Given the description of an element on the screen output the (x, y) to click on. 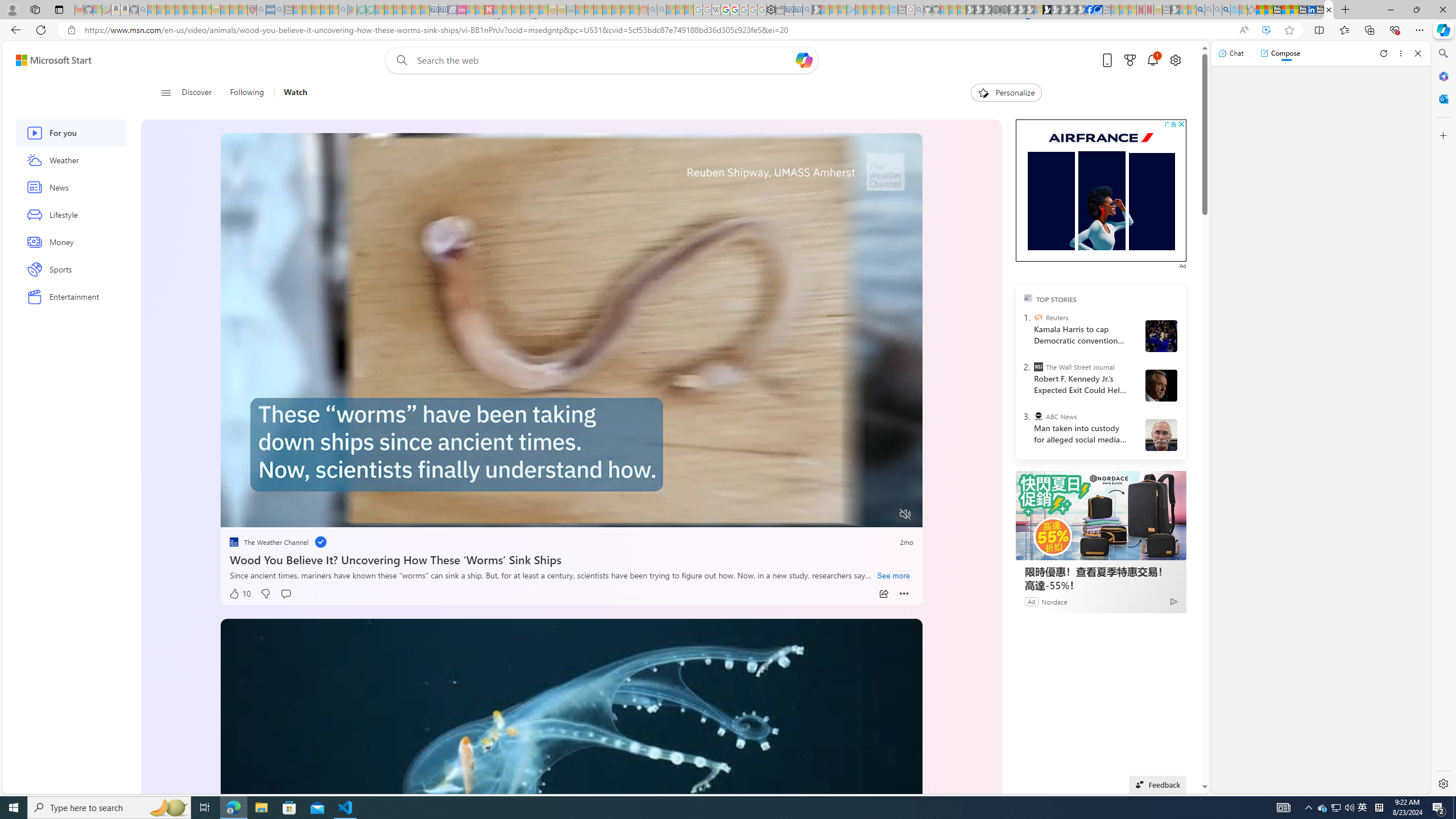
Class: button-glyph (165, 92)
Aberdeen, Hong Kong SAR weather forecast | Microsoft Weather (1268, 9)
Nordace | Facebook (1089, 9)
ABC News (1037, 415)
Pets - MSN - Sleeping (324, 9)
 Harris and Walz campaign in Wisconsin (1161, 336)
